Given the description of an element on the screen output the (x, y) to click on. 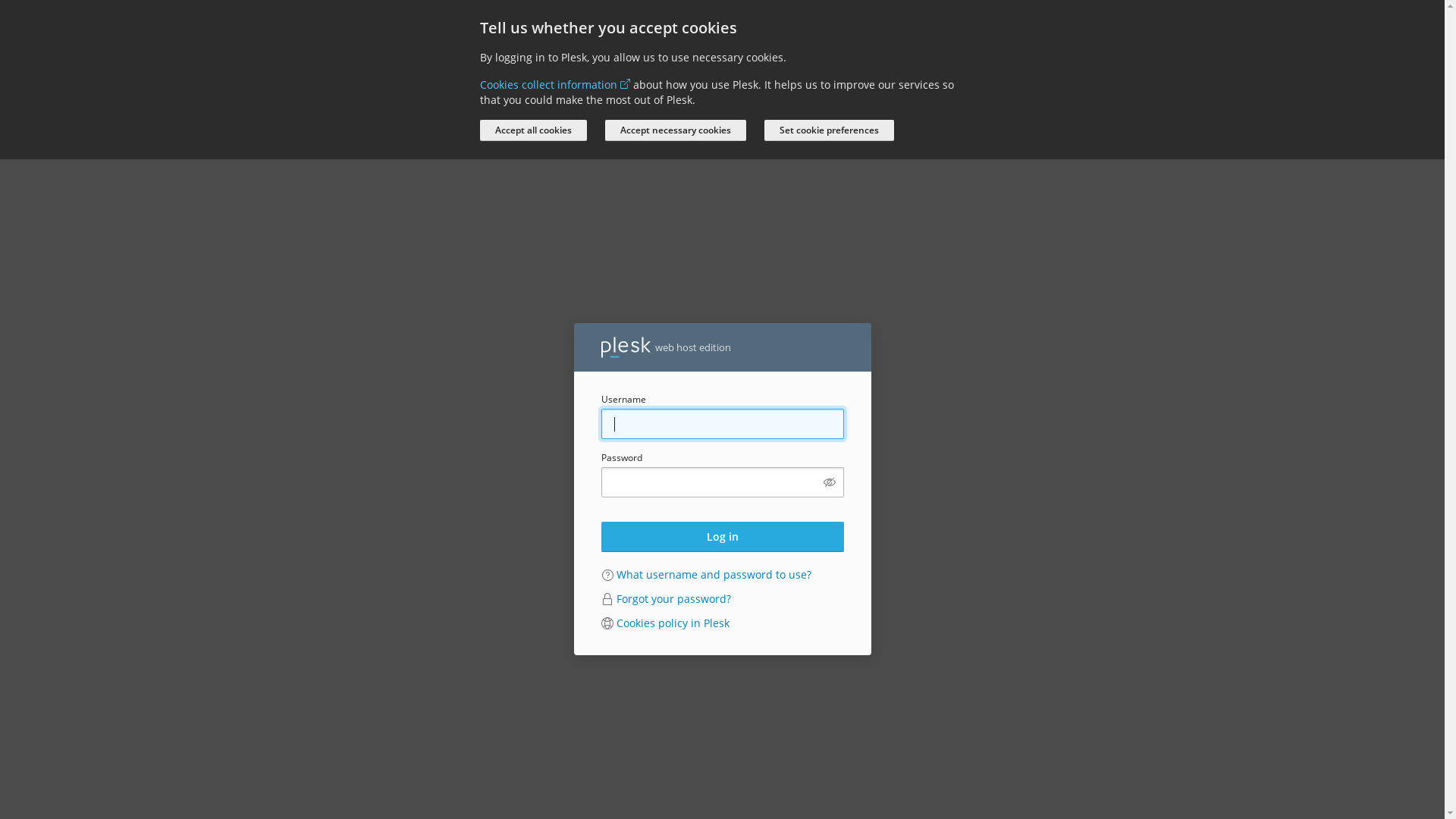
Forgot your password? Element type: text (672, 598)
Accept necessary cookies Element type: text (675, 130)
Set cookie preferences Element type: text (829, 130)
Cookies collect information Element type: text (554, 84)
Log in Element type: text (721, 536)
Accept all cookies Element type: text (532, 130)
Cookies policy in Plesk Element type: text (671, 622)
What username and password to use? Element type: text (712, 574)
